Given the description of an element on the screen output the (x, y) to click on. 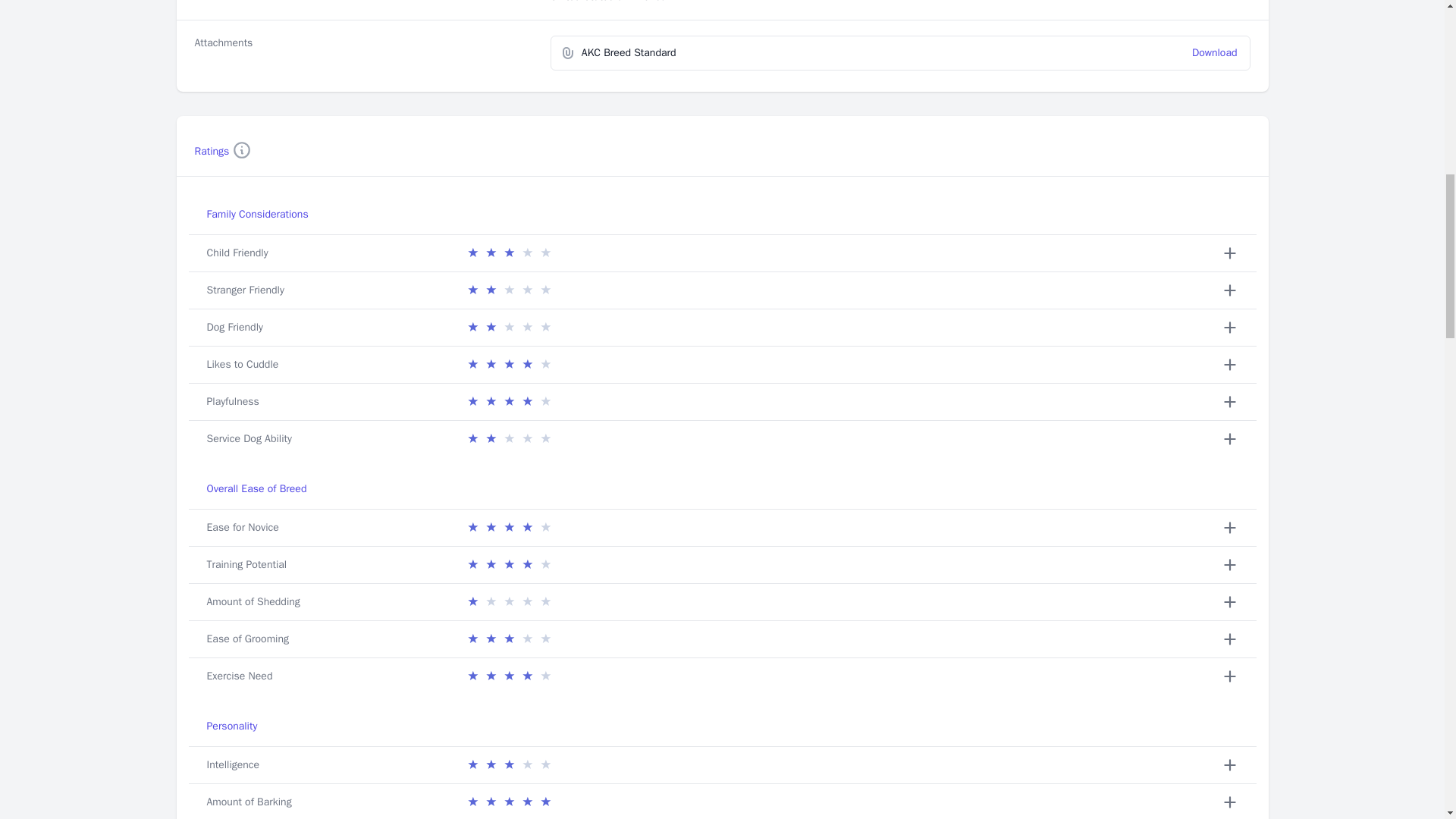
3 Stars (508, 638)
2 Stars (508, 290)
Download (1214, 51)
2 Stars (508, 327)
3 Stars (508, 253)
1 Star (508, 601)
2 Stars (508, 438)
4 Stars (508, 402)
3 Stars (508, 764)
4 Stars (508, 676)
5 Stars (508, 802)
4 Stars (508, 565)
4 Stars (508, 364)
4 Stars (508, 527)
